Given the description of an element on the screen output the (x, y) to click on. 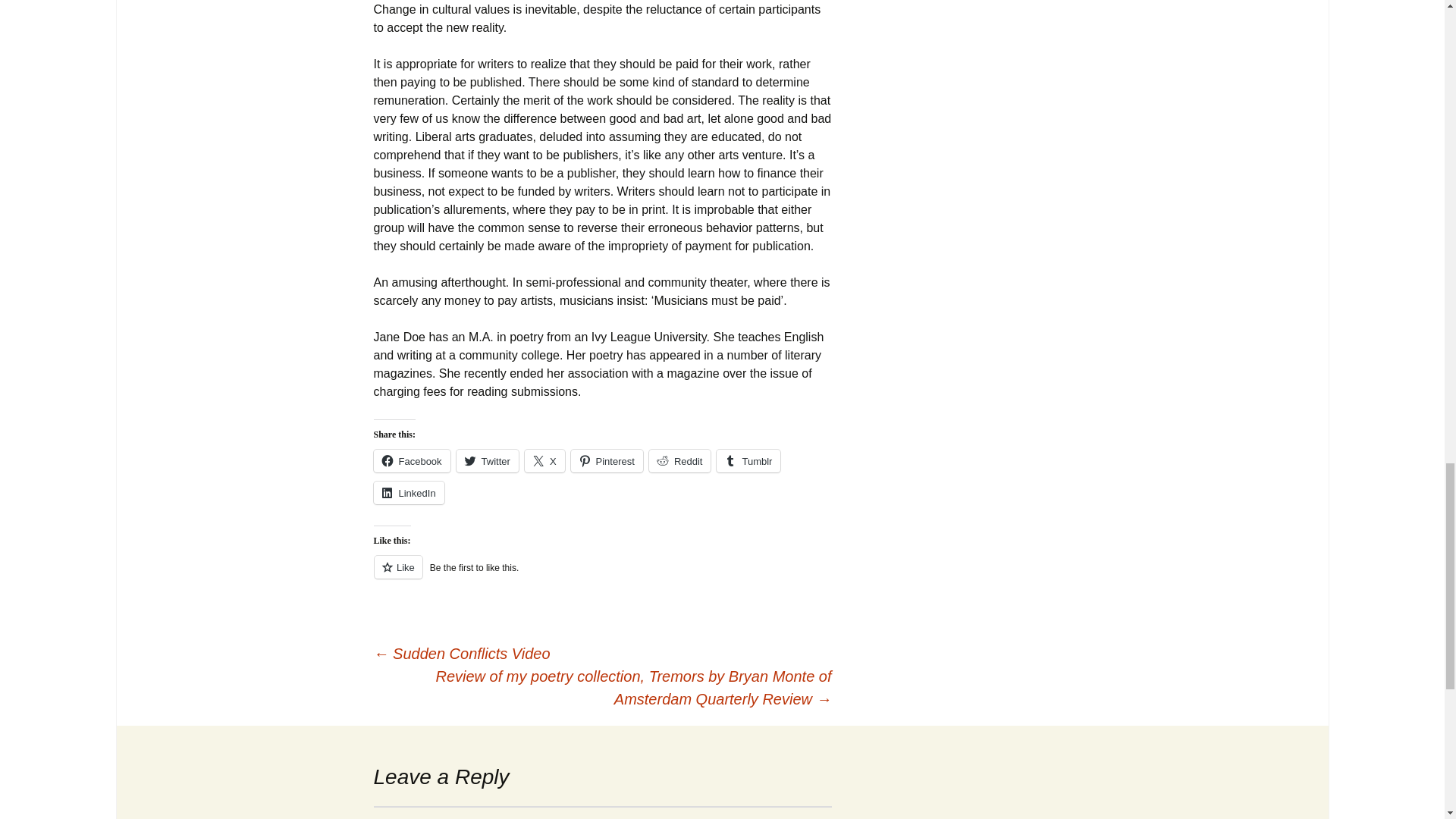
Click to share on Pinterest (606, 460)
Click to share on X (544, 460)
Click to share on LinkedIn (408, 492)
Click to share on Tumblr (748, 460)
Click to share on Twitter (487, 460)
Click to share on Reddit (680, 460)
Click to share on Facebook (410, 460)
Like or Reblog (601, 576)
